Given the description of an element on the screen output the (x, y) to click on. 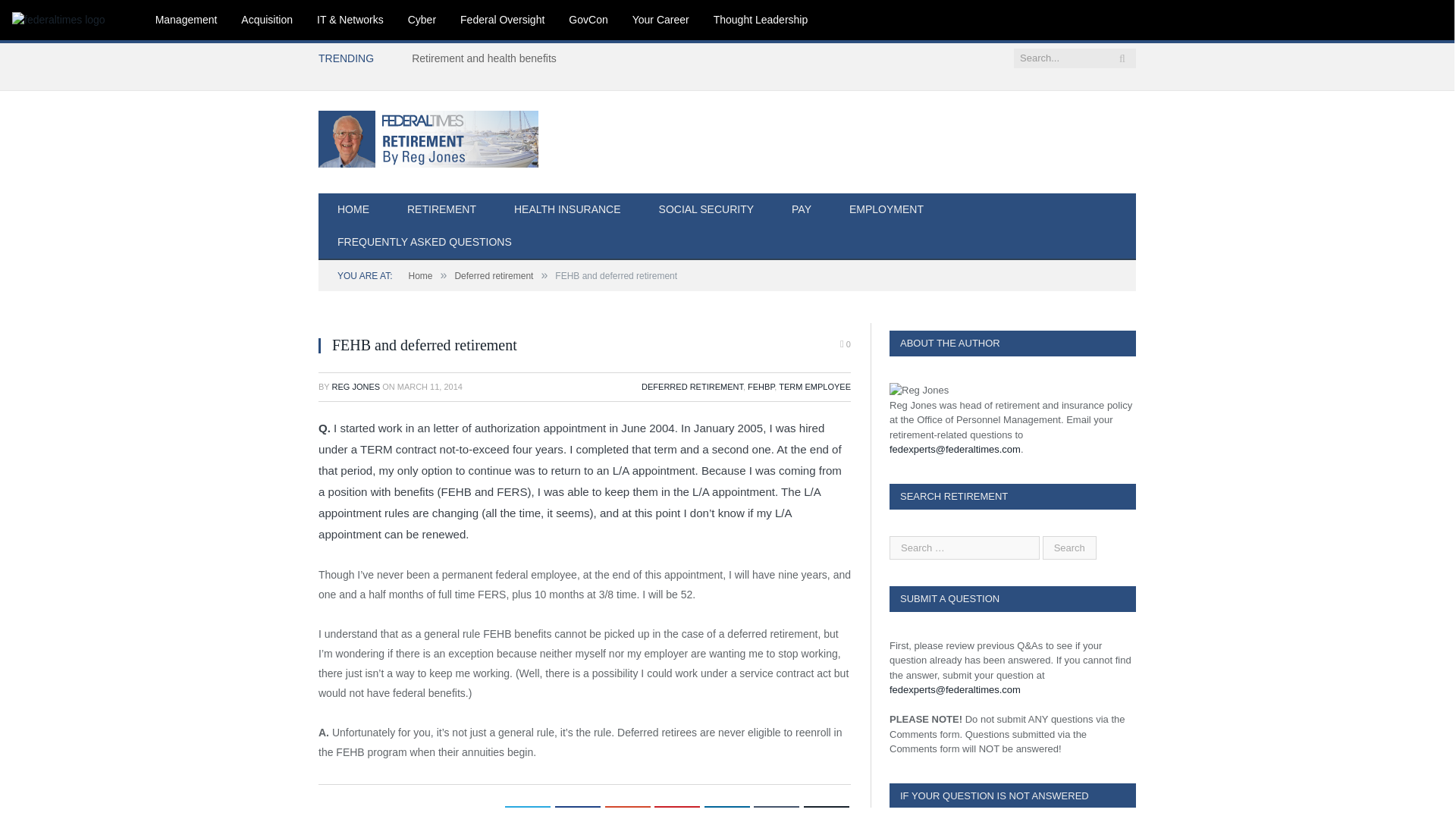
Tweet It (527, 812)
Search (1069, 546)
Ask The Experts: Retirement (428, 136)
PAY (801, 210)
Pinterest (676, 812)
Management (186, 19)
Twitter (527, 812)
Posts by Reg Jones (355, 386)
FEHBP (761, 386)
Search (1069, 546)
